Given the description of an element on the screen output the (x, y) to click on. 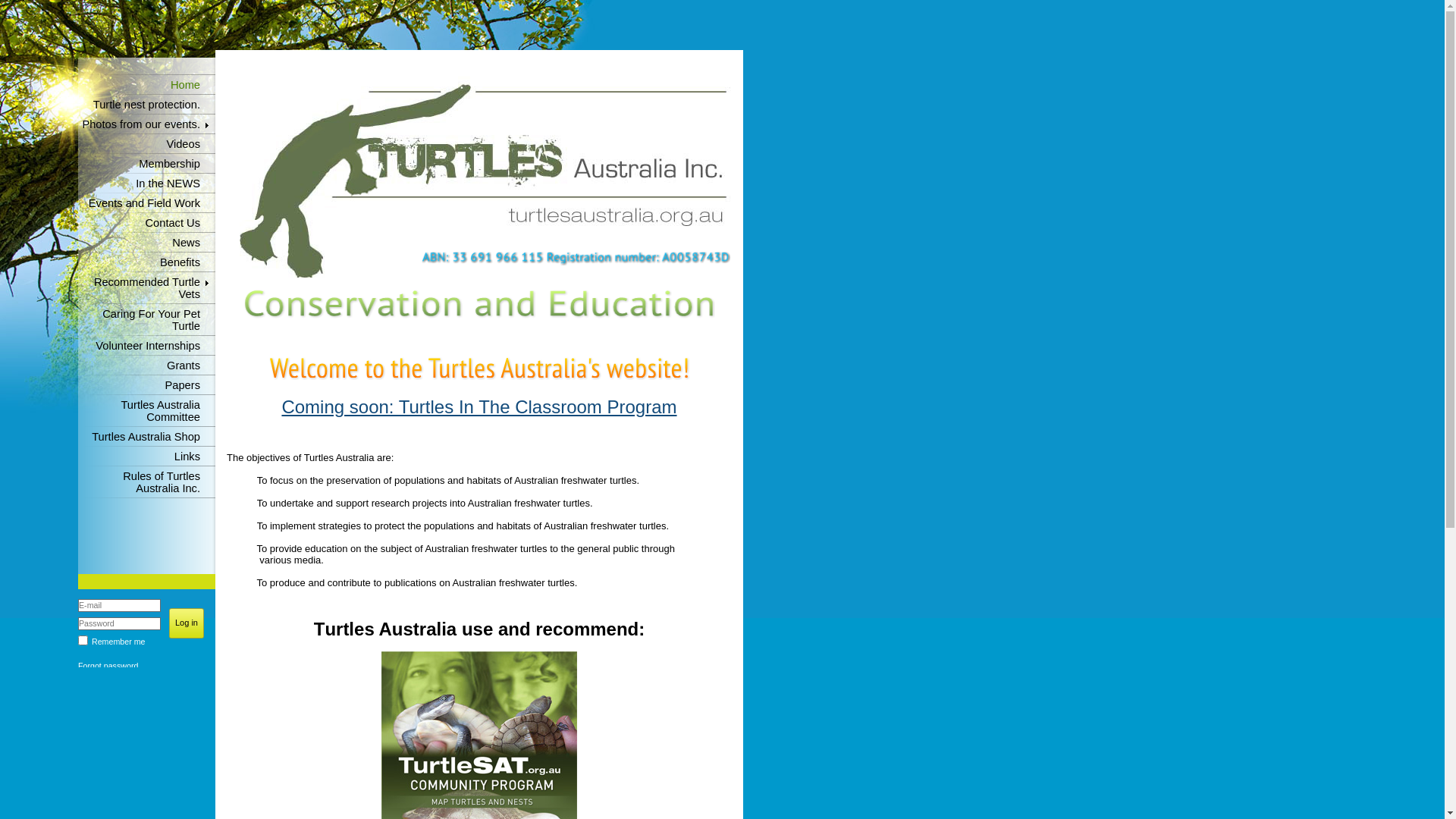
Volunteer Internships Element type: text (146, 345)
Membership Element type: text (146, 163)
Turtle nest protection. Element type: text (146, 104)
Grants Element type: text (146, 365)
Turtles Australia Committee Element type: text (146, 410)
Coming soon: Turtles In The Classroom Program Element type: text (478, 406)
Links Element type: text (146, 456)
Papers Element type: text (146, 385)
Turtles Australia Shop Element type: text (146, 436)
In the NEWS Element type: text (146, 183)
News Element type: text (146, 242)
Contact Us Element type: text (146, 222)
Forgot password Element type: text (108, 665)
Recommended Turtle Vets Element type: text (146, 288)
Welcome to the Turtles Australia&#39;s website! Element type: hover (479, 368)
Events and Field Work Element type: text (146, 203)
Caring For Your Pet Turtle Element type: text (146, 319)
Photos from our events. Element type: text (146, 124)
Rules of Turtles Australia Inc. Element type: text (146, 482)
Log in Element type: text (186, 623)
Conservation and Education Element type: hover (478, 303)
Benefits Element type: text (146, 262)
ABN: 33 691 966 115 Registration number: A0058743D Element type: hover (575, 258)
Videos Element type: text (146, 143)
